Given the description of an element on the screen output the (x, y) to click on. 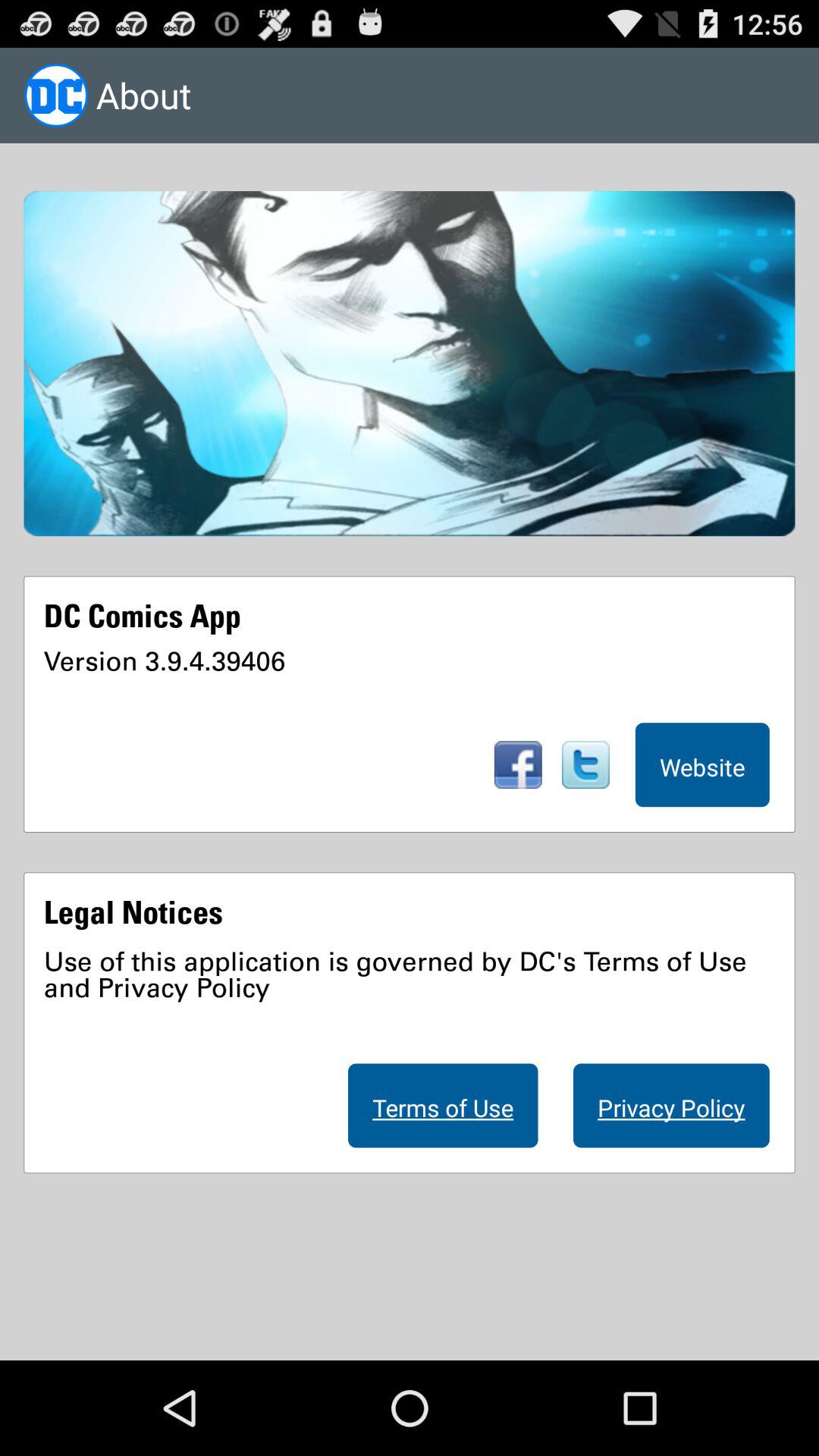
select the website button (702, 764)
